Given the description of an element on the screen output the (x, y) to click on. 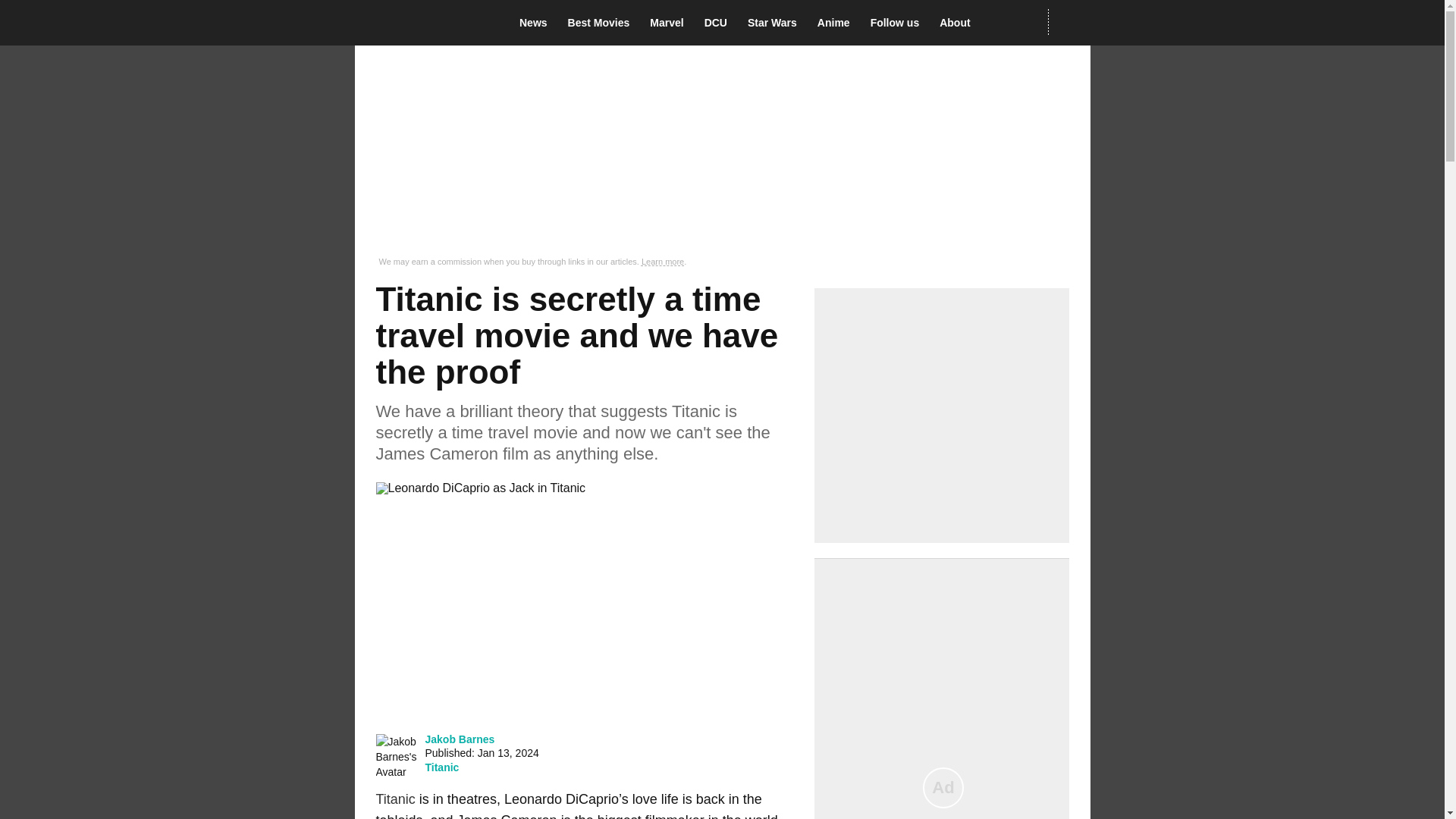
Titanic (441, 767)
Titanic (394, 798)
The Digital Fix (424, 22)
Follow us (899, 22)
Marvel (671, 22)
Learn more (663, 261)
Anime News (837, 22)
Star Wars News (777, 22)
Anime (837, 22)
Best Movies (603, 22)
